Given the description of an element on the screen output the (x, y) to click on. 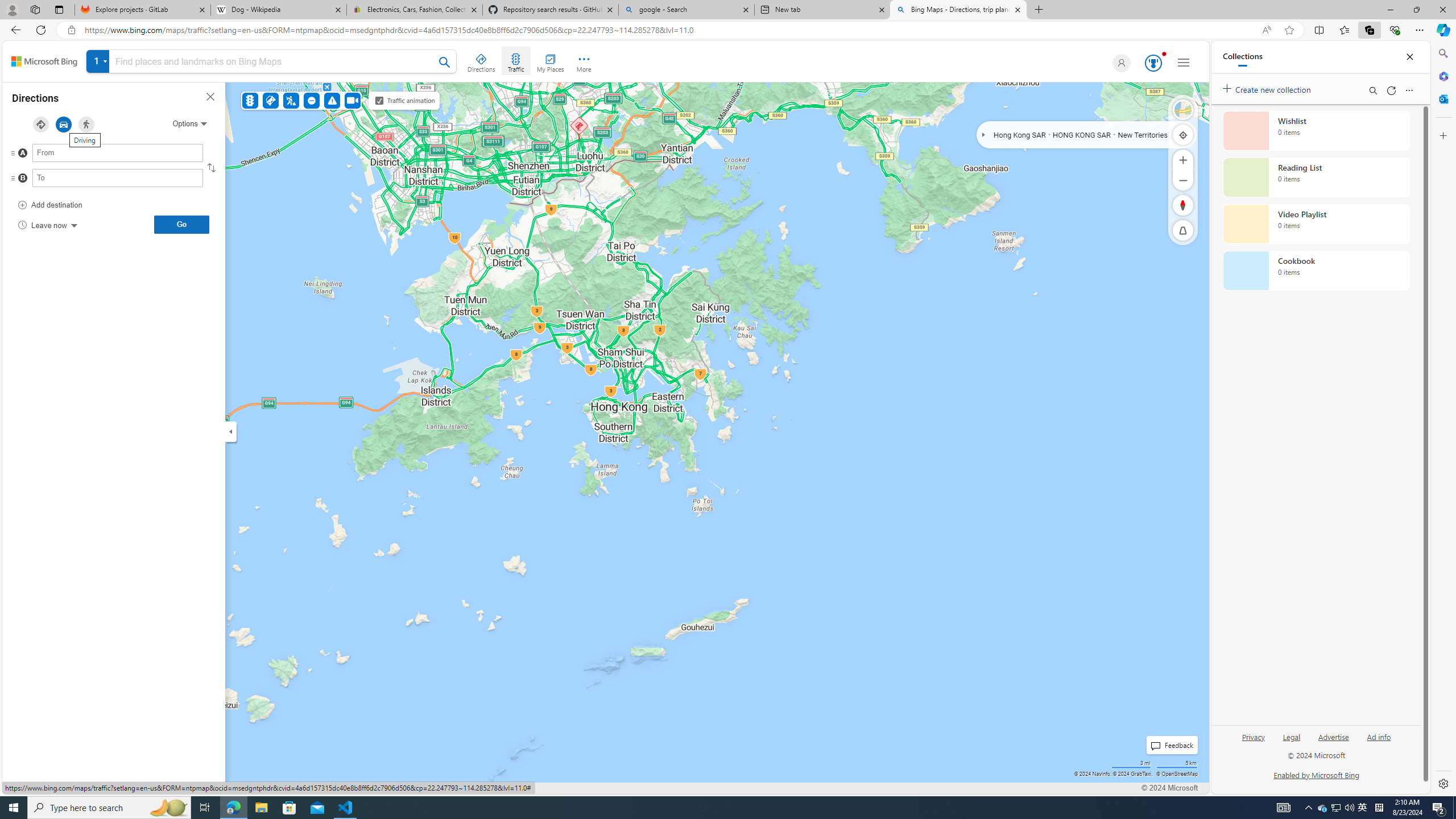
Add a search (274, 60)
My Places (549, 60)
Help (249, 787)
Construction (290, 100)
Back to Bing search (44, 60)
